Given the description of an element on the screen output the (x, y) to click on. 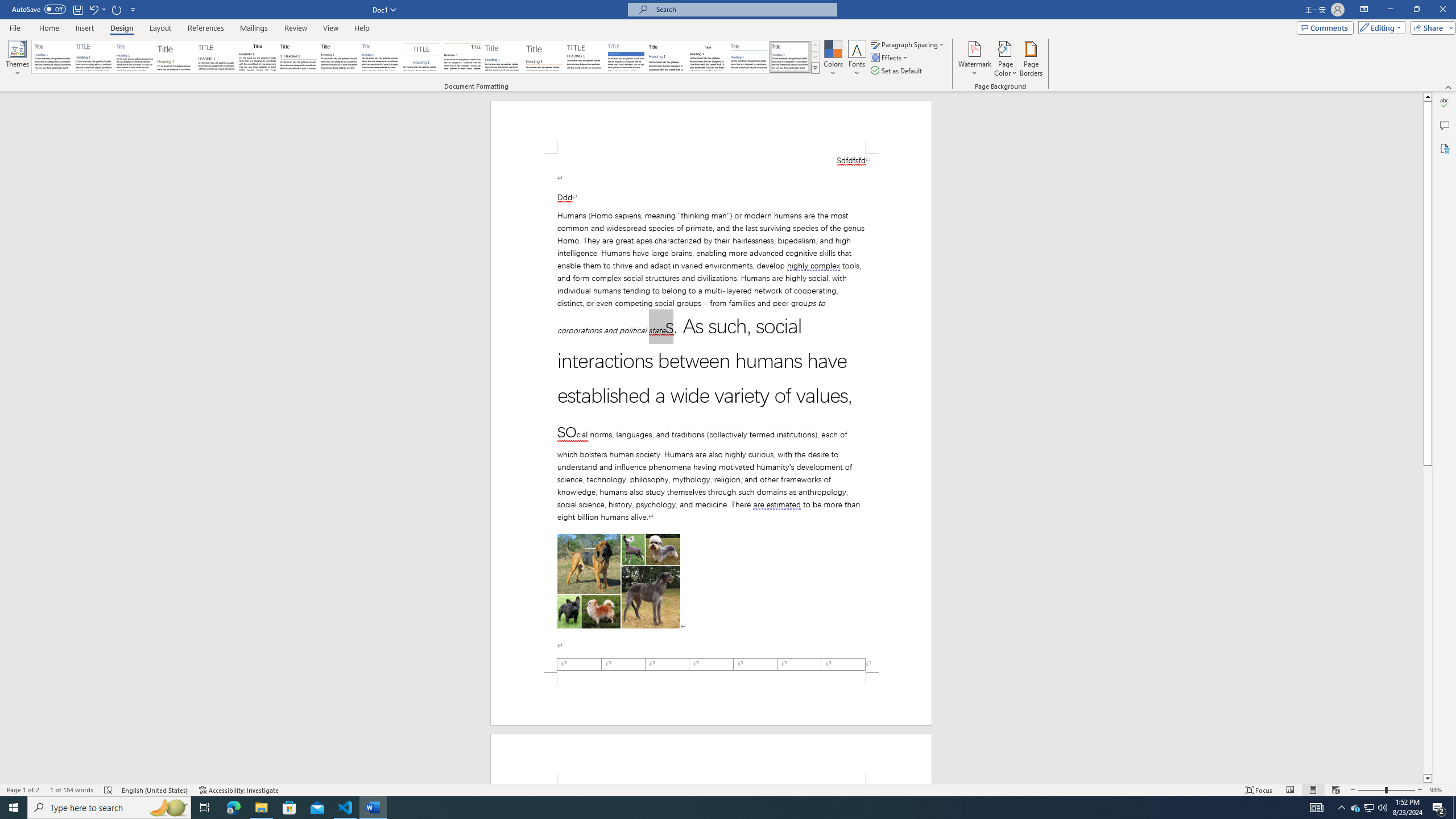
Print Layout (1312, 790)
Quick Access Toolbar (74, 9)
Black & White (Classic) (257, 56)
Watermark (974, 58)
Class: NetUIScrollBar (1427, 437)
Class: MsoCommandBar (728, 789)
Read Mode (1290, 790)
Word 2013 (790, 56)
Web Layout (1335, 790)
AutoSave (38, 9)
Undo Apply Quick Style Set (96, 9)
Lines (Stylish) (544, 56)
Editor (1444, 102)
Accessibility (1444, 147)
